Given the description of an element on the screen output the (x, y) to click on. 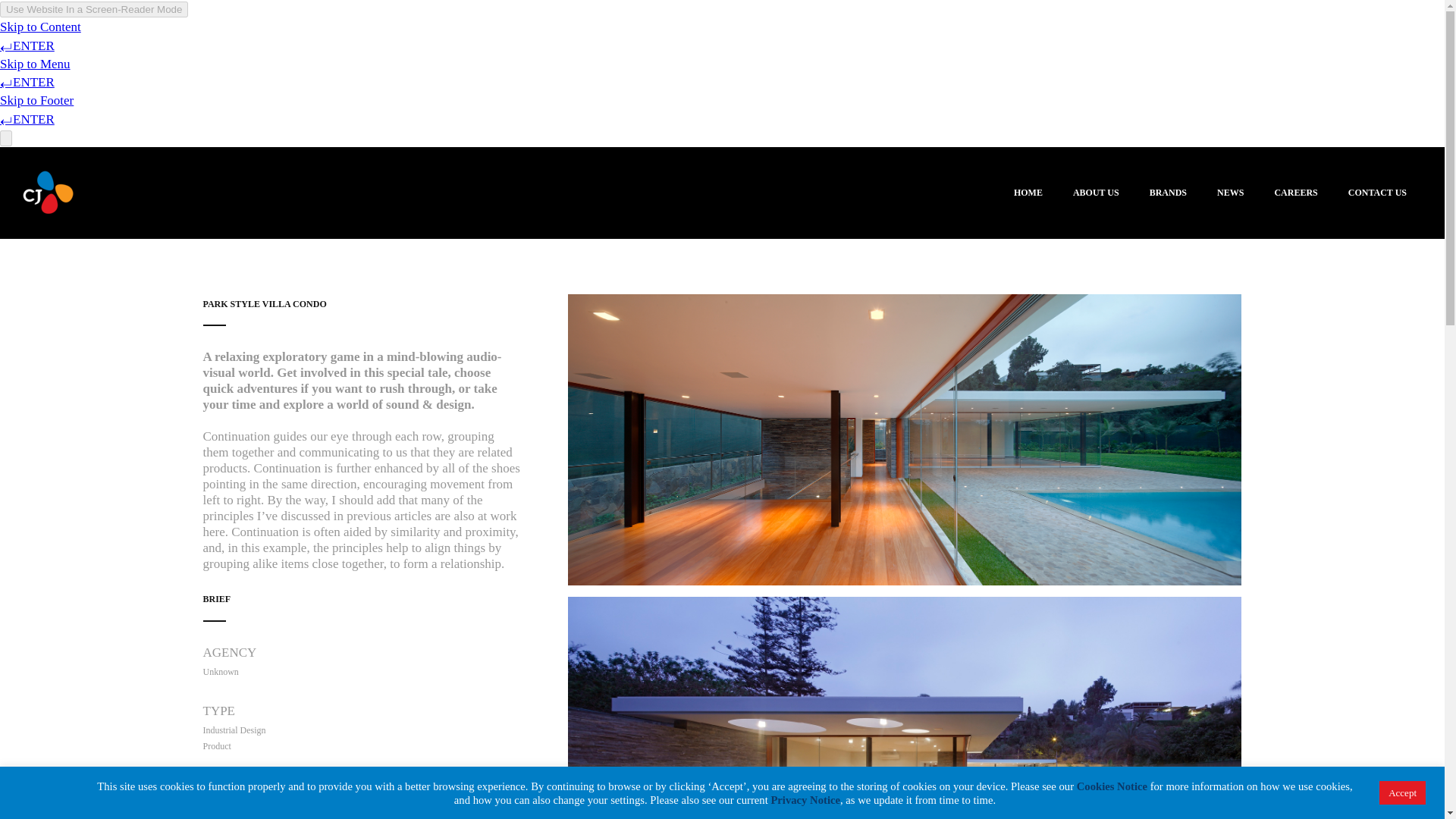
CONTACT US (1377, 192)
